Given the description of an element on the screen output the (x, y) to click on. 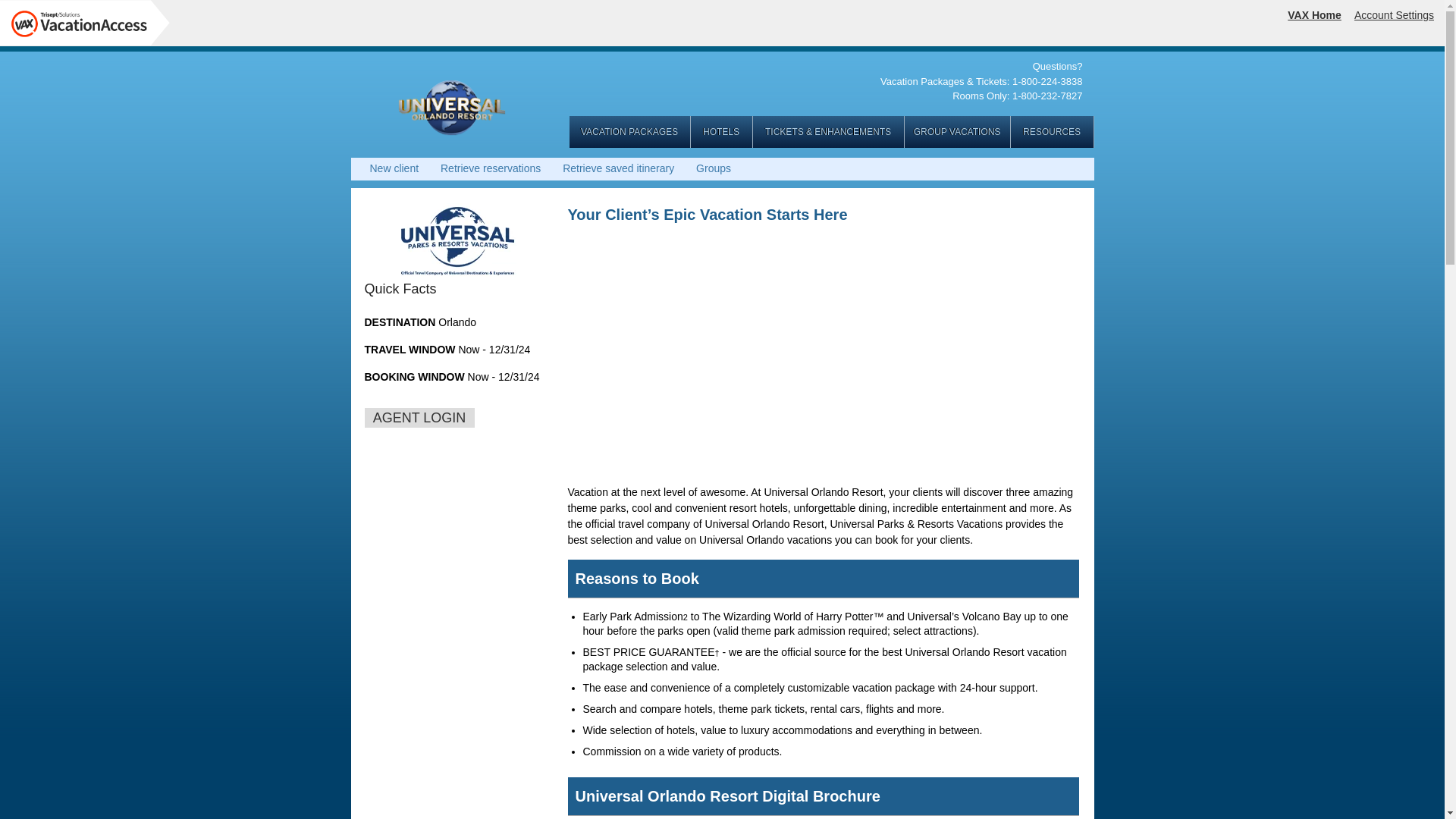
GROUP VACATIONS (957, 132)
VAX Home (1313, 15)
VACATION PACKAGES (629, 132)
RESOURCES (1051, 132)
HOTELS (721, 132)
agent login (419, 417)
Account Settings (1394, 15)
YouTube video player (828, 359)
